Given the description of an element on the screen output the (x, y) to click on. 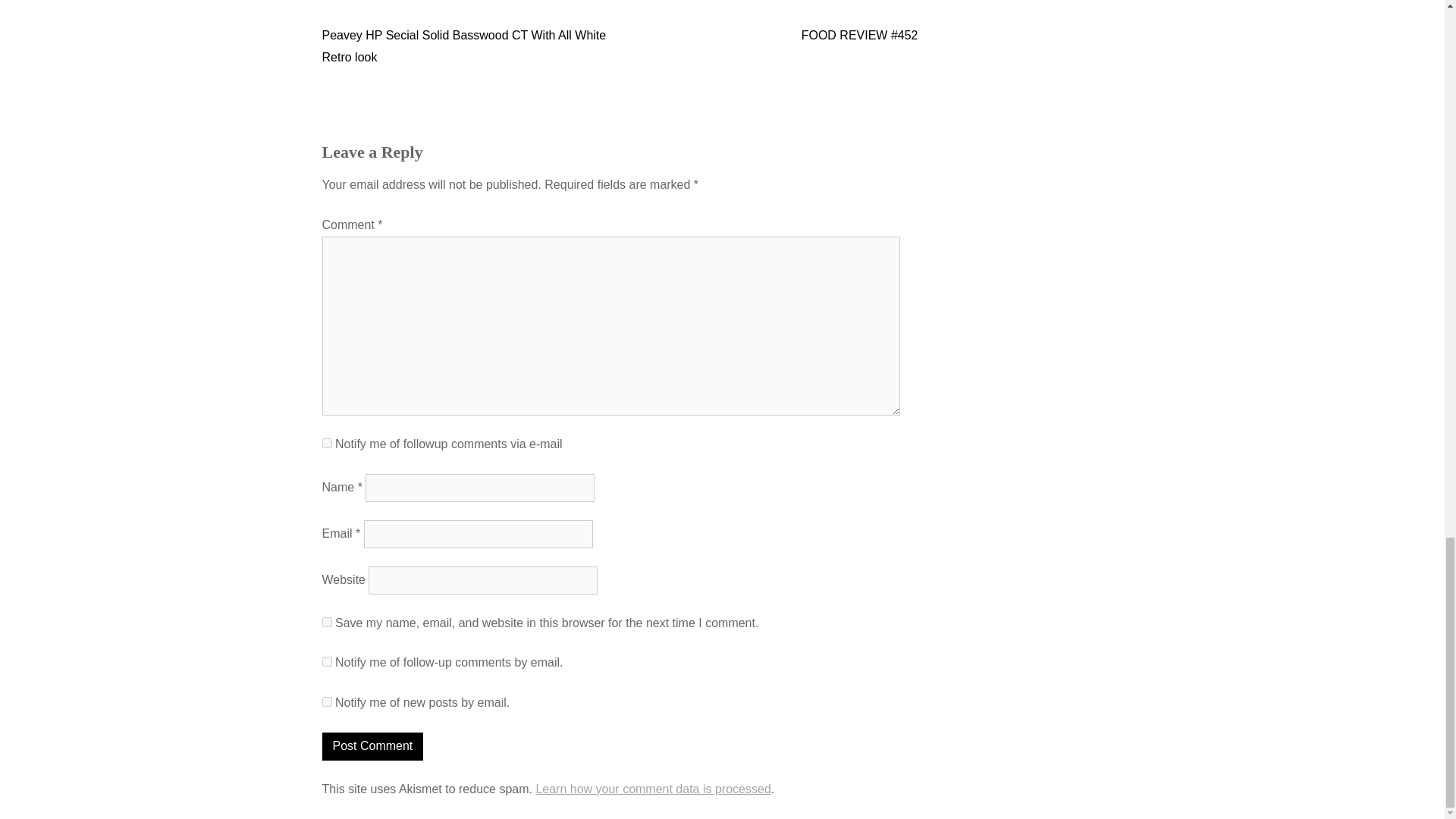
Post Comment (372, 746)
yes (326, 622)
subscribe (326, 701)
Learn how your comment data is processed (652, 788)
Peavey HP Secial Solid Basswood CT With All White Retro look (463, 45)
subscribe (326, 661)
Post Comment (372, 746)
subscribe (326, 442)
